Given the description of an element on the screen output the (x, y) to click on. 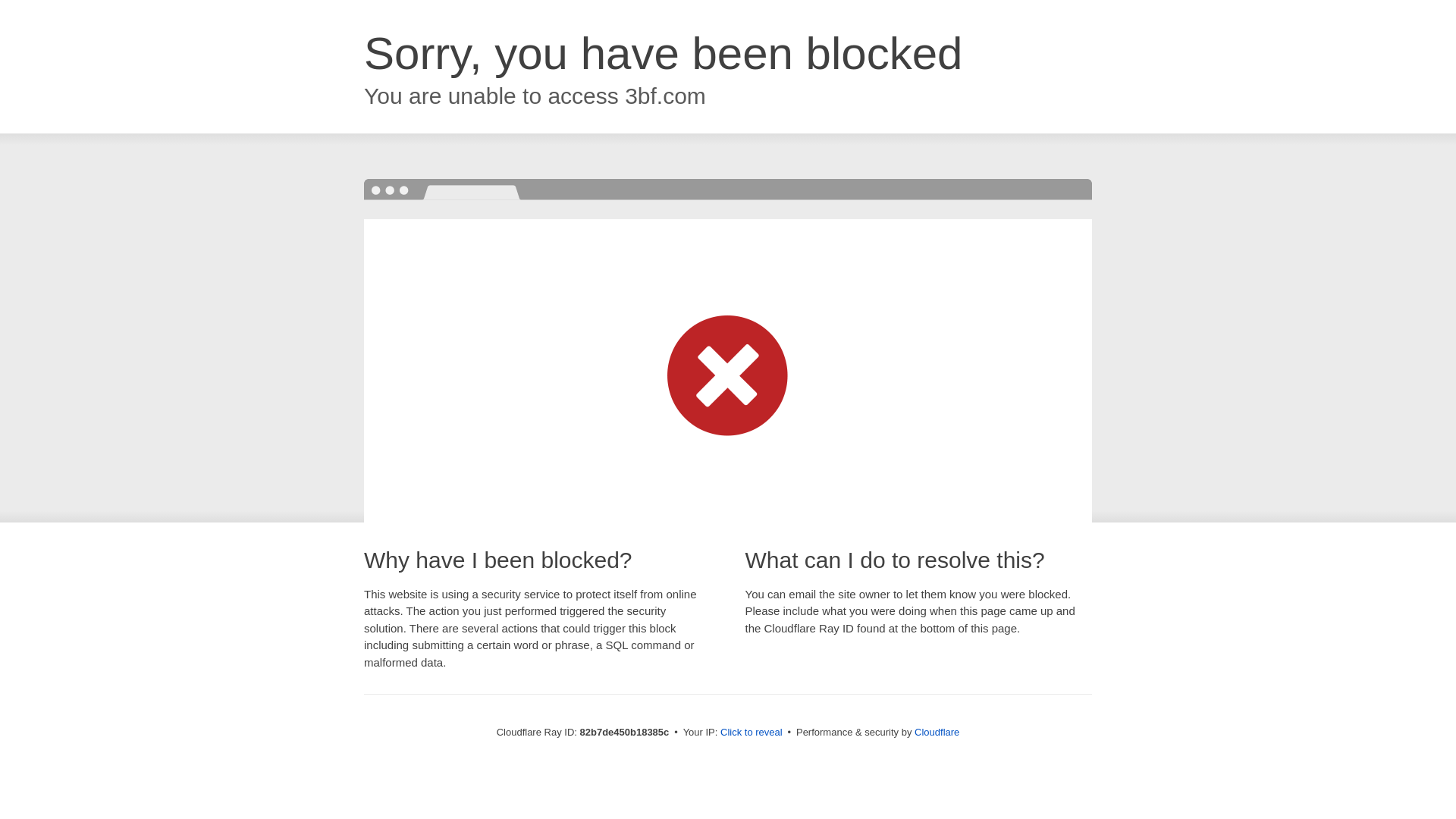
Cloudflare Element type: text (936, 731)
Click to reveal Element type: text (751, 732)
